Given the description of an element on the screen output the (x, y) to click on. 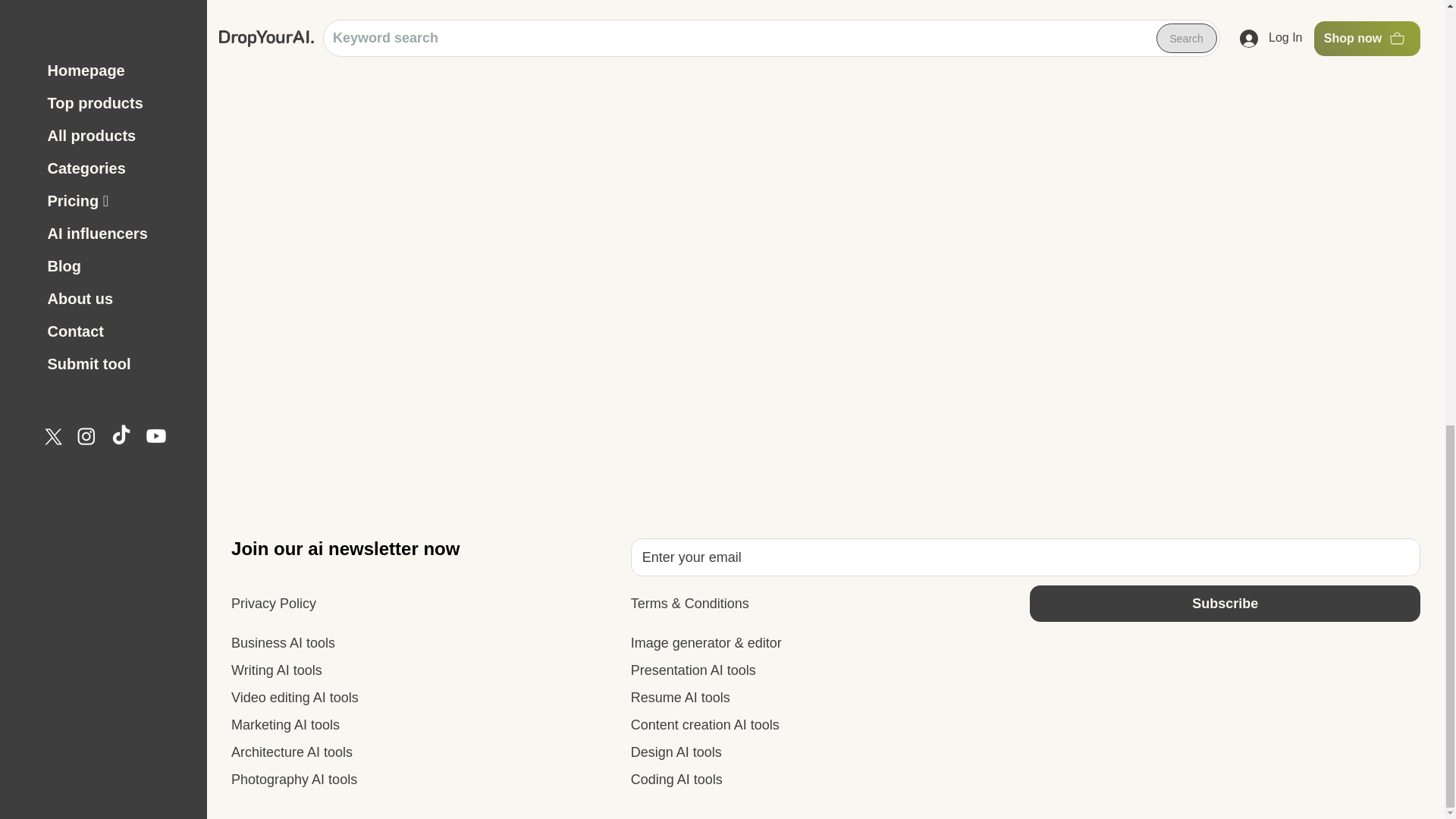
Resume AI tools (680, 697)
Marketing AI tools (285, 724)
Content creation AI tools (704, 724)
Business AI tools (282, 642)
Presentation AI tools (692, 670)
Design AI tools (676, 752)
Coding AI tools (676, 779)
Photography AI tools (293, 779)
Architecture AI tools (291, 752)
Video editing AI tools (294, 697)
